Given the description of an element on the screen output the (x, y) to click on. 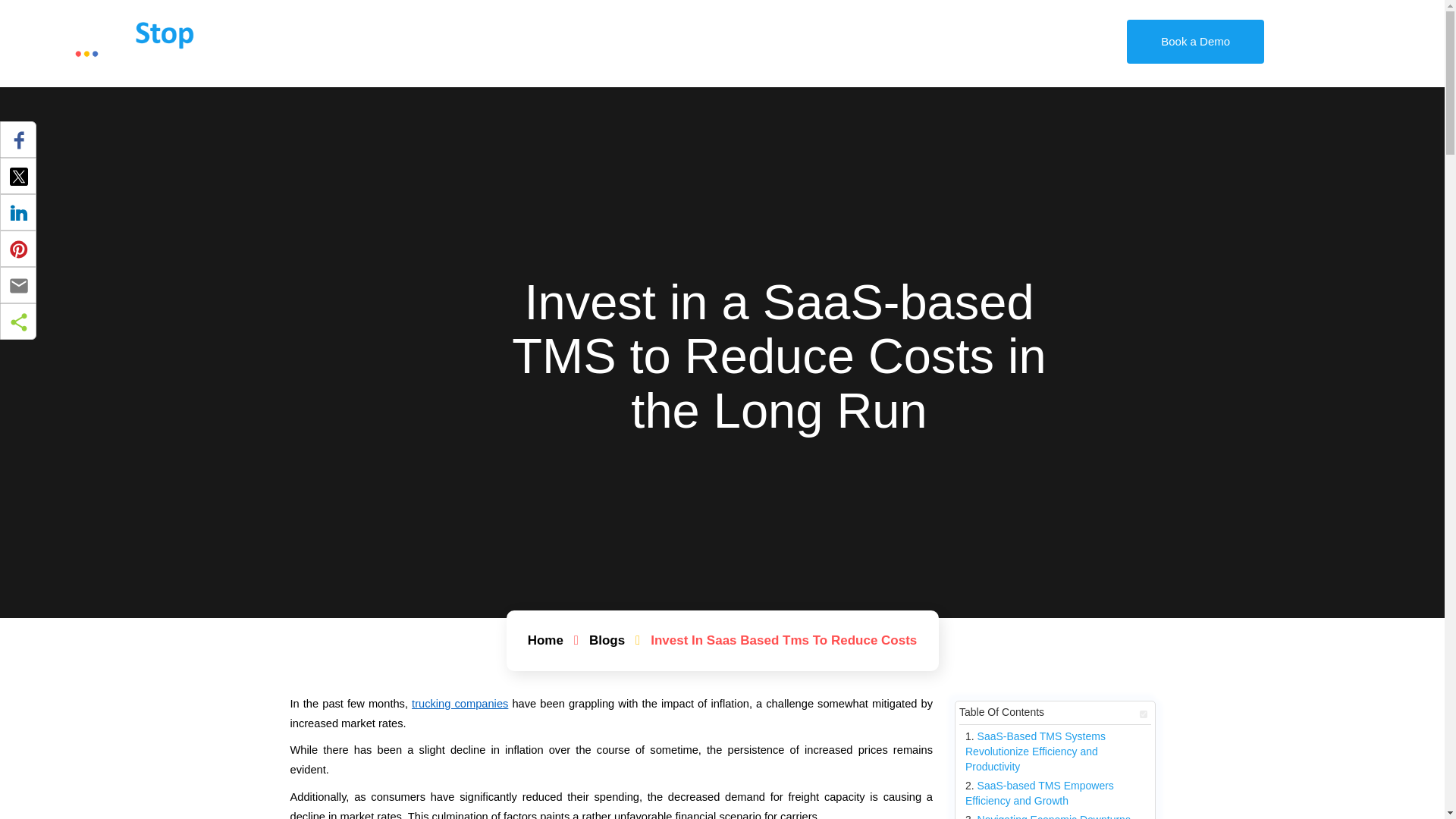
Book a Demo (663, 41)
on (1142, 714)
User Sign in (858, 40)
Book a Demo (701, 42)
